Given the description of an element on the screen output the (x, y) to click on. 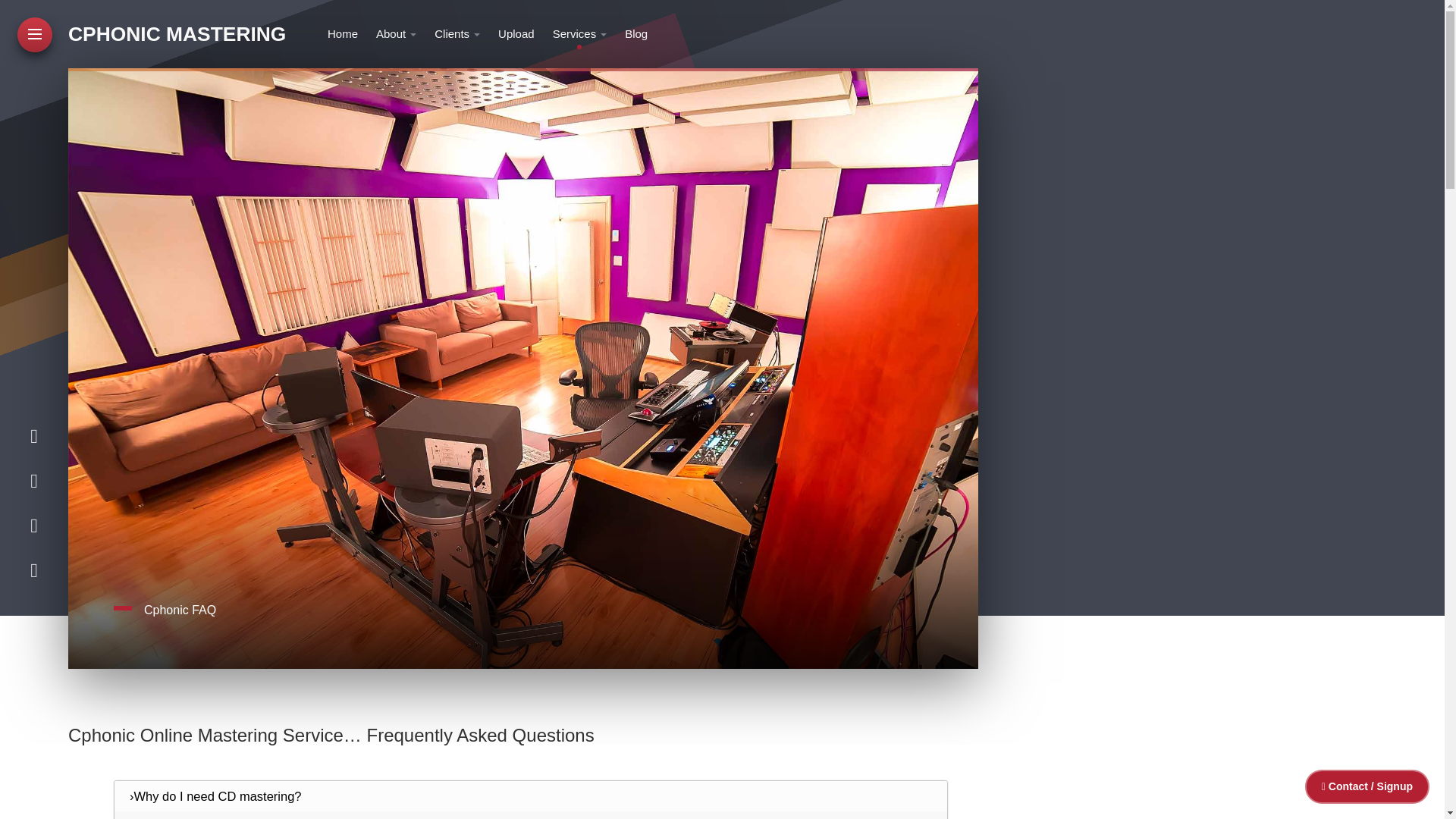
Blog (635, 33)
Services (580, 33)
CPHONIC MASTERING (176, 34)
Home (342, 33)
Clients (456, 33)
About (395, 33)
Upload (515, 33)
